Given the description of an element on the screen output the (x, y) to click on. 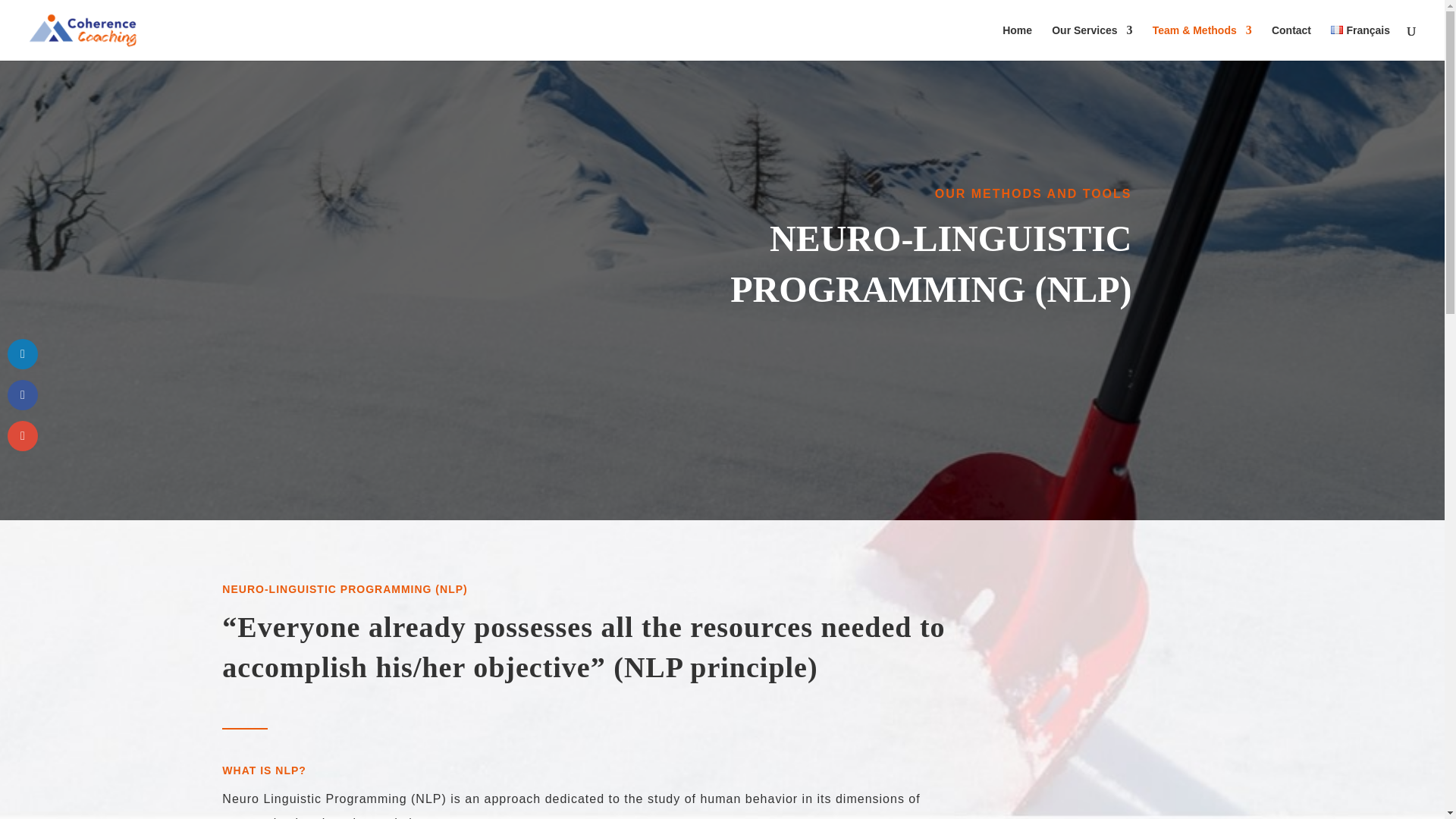
Contact (1291, 42)
Our Services (1091, 42)
